Given the description of an element on the screen output the (x, y) to click on. 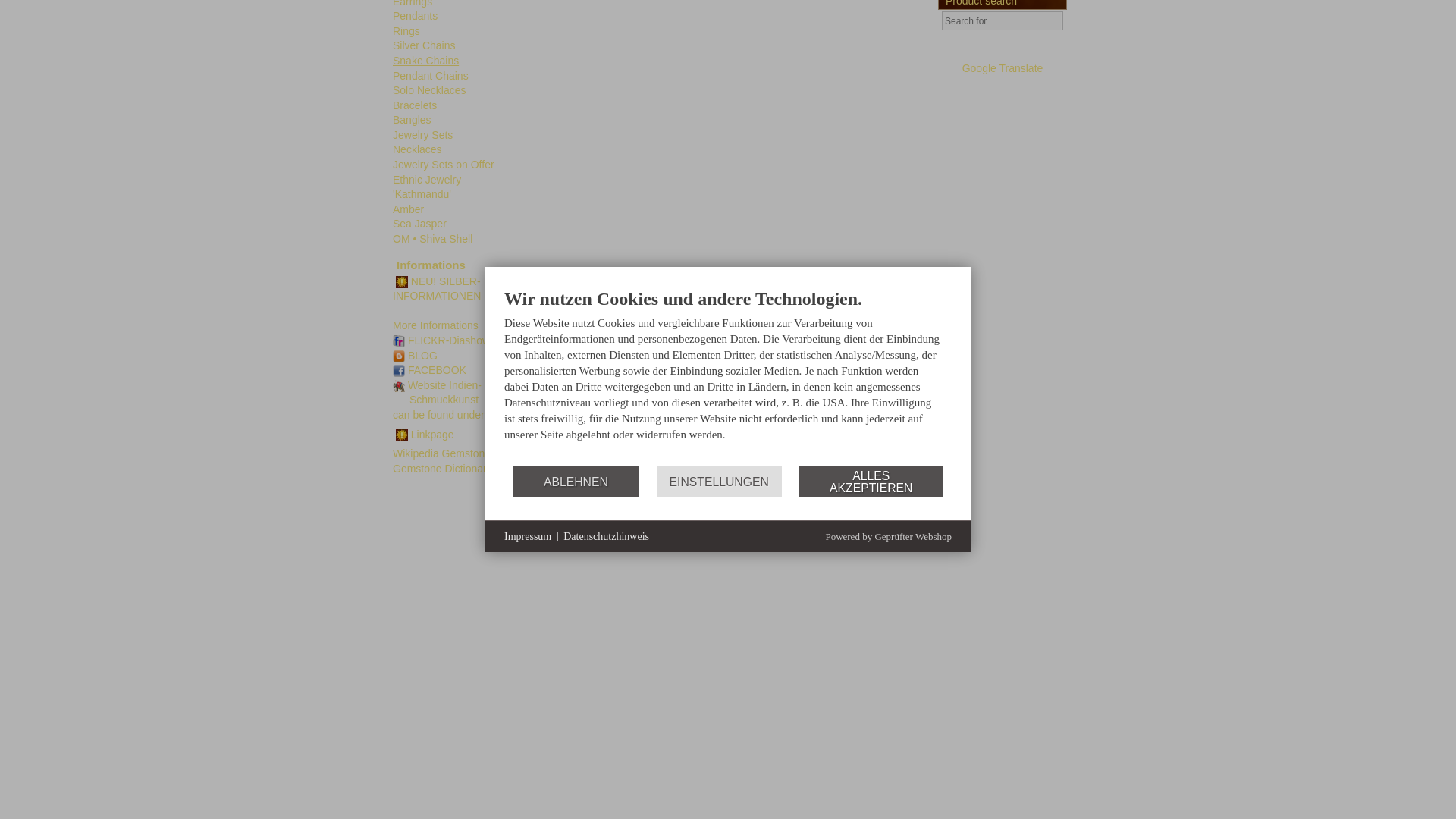
Jewelry Sets (422, 134)
Rings (406, 30)
Earrings (412, 3)
Ethnic Jewelry 'Kathmandu' (427, 186)
Gemstone Dictionary (442, 468)
Pendant Chains (430, 74)
Snake Chains (425, 60)
Bangles (411, 119)
Start search (1050, 20)
Wikipedia Gemstones (444, 453)
